Given the description of an element on the screen output the (x, y) to click on. 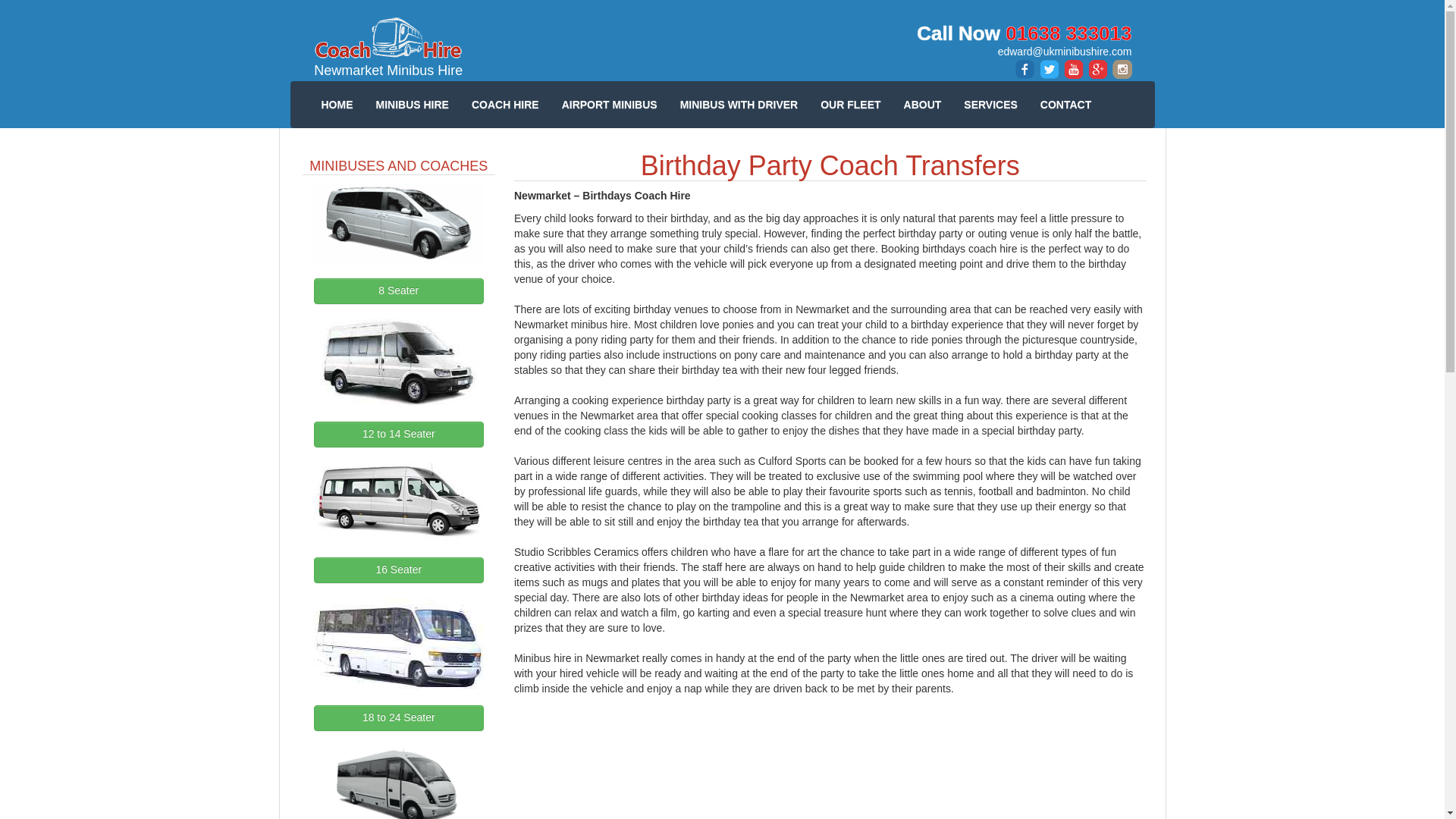
OUR FLEET (850, 104)
Newmarket Minibus Hire (388, 48)
16 Seater (399, 570)
MINIBUS WITH DRIVER (738, 104)
HOME (336, 104)
ABOUT (922, 104)
Newmarket Minibus Hire (388, 48)
COACH HIRE (505, 104)
8 Seater (399, 290)
CONTACT (1065, 104)
MINIBUS HIRE (412, 104)
18 to 24 Seater (399, 718)
12 to 14 Seater (399, 434)
SERVICES (990, 104)
AIRPORT MINIBUS (609, 104)
